Given the description of an element on the screen output the (x, y) to click on. 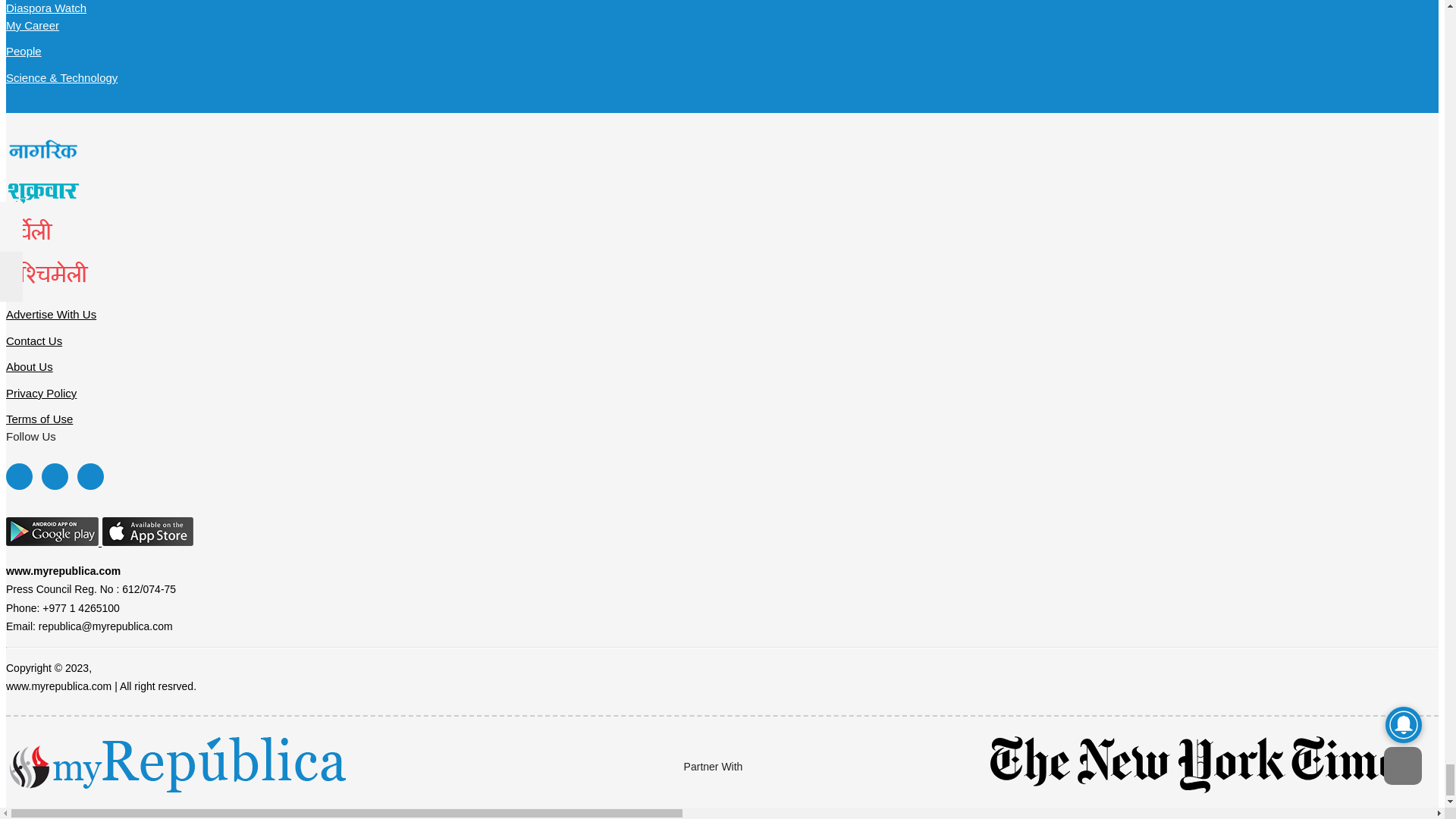
Twitter (55, 476)
Facebook (18, 476)
Youtube (90, 476)
